Given the description of an element on the screen output the (x, y) to click on. 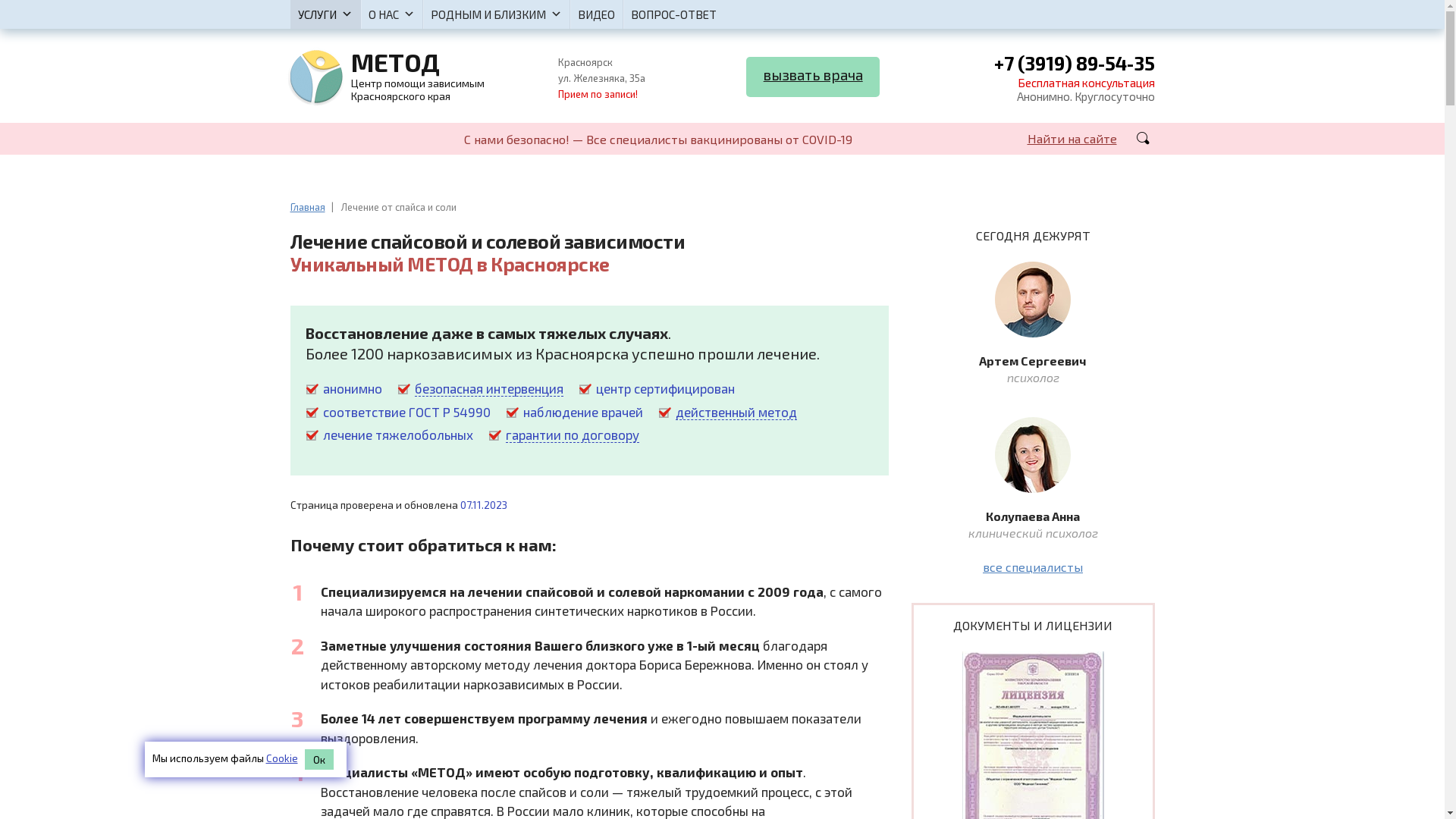
+7 (3919) 89-54-35 Element type: text (1073, 64)
Cookie Element type: text (281, 758)
